Given the description of an element on the screen output the (x, y) to click on. 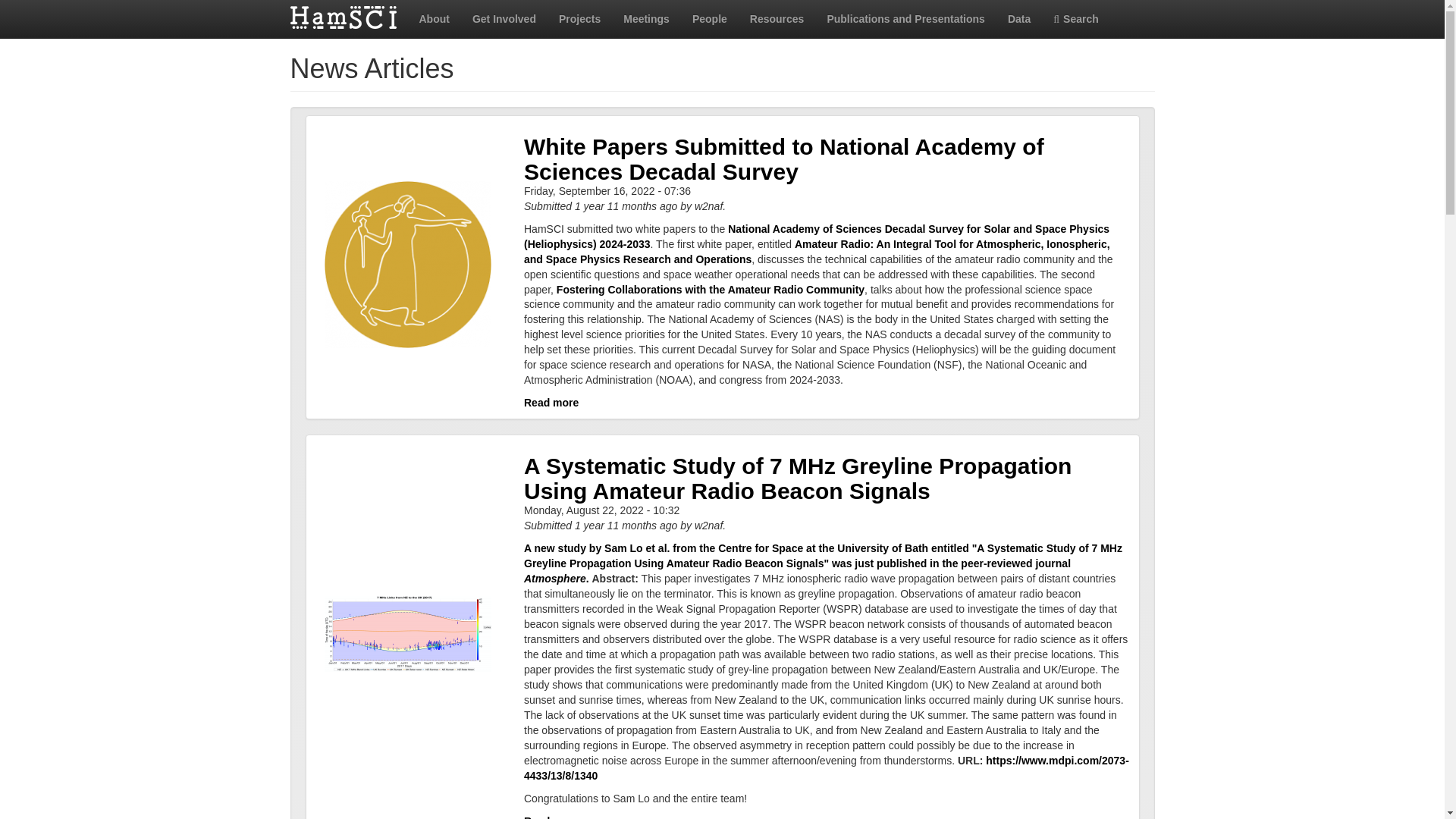
Fostering Collaborations with the Amateur Radio Community (710, 289)
About (434, 18)
Data (1018, 18)
Resources (776, 18)
Read more (551, 816)
Get Involved (504, 18)
Home (348, 16)
